Given the description of an element on the screen output the (x, y) to click on. 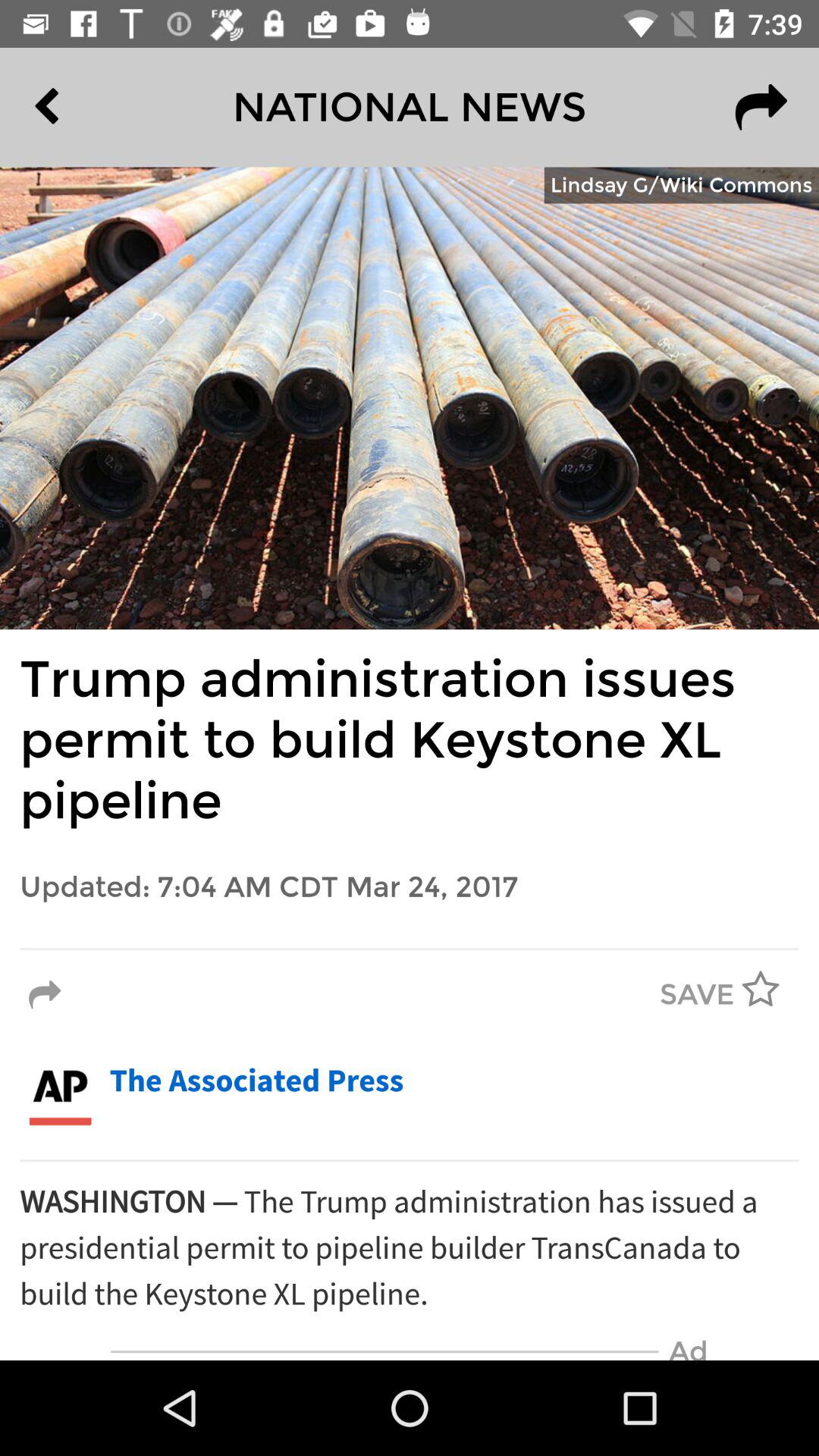
jump to updated 7 04 item (409, 887)
